Given the description of an element on the screen output the (x, y) to click on. 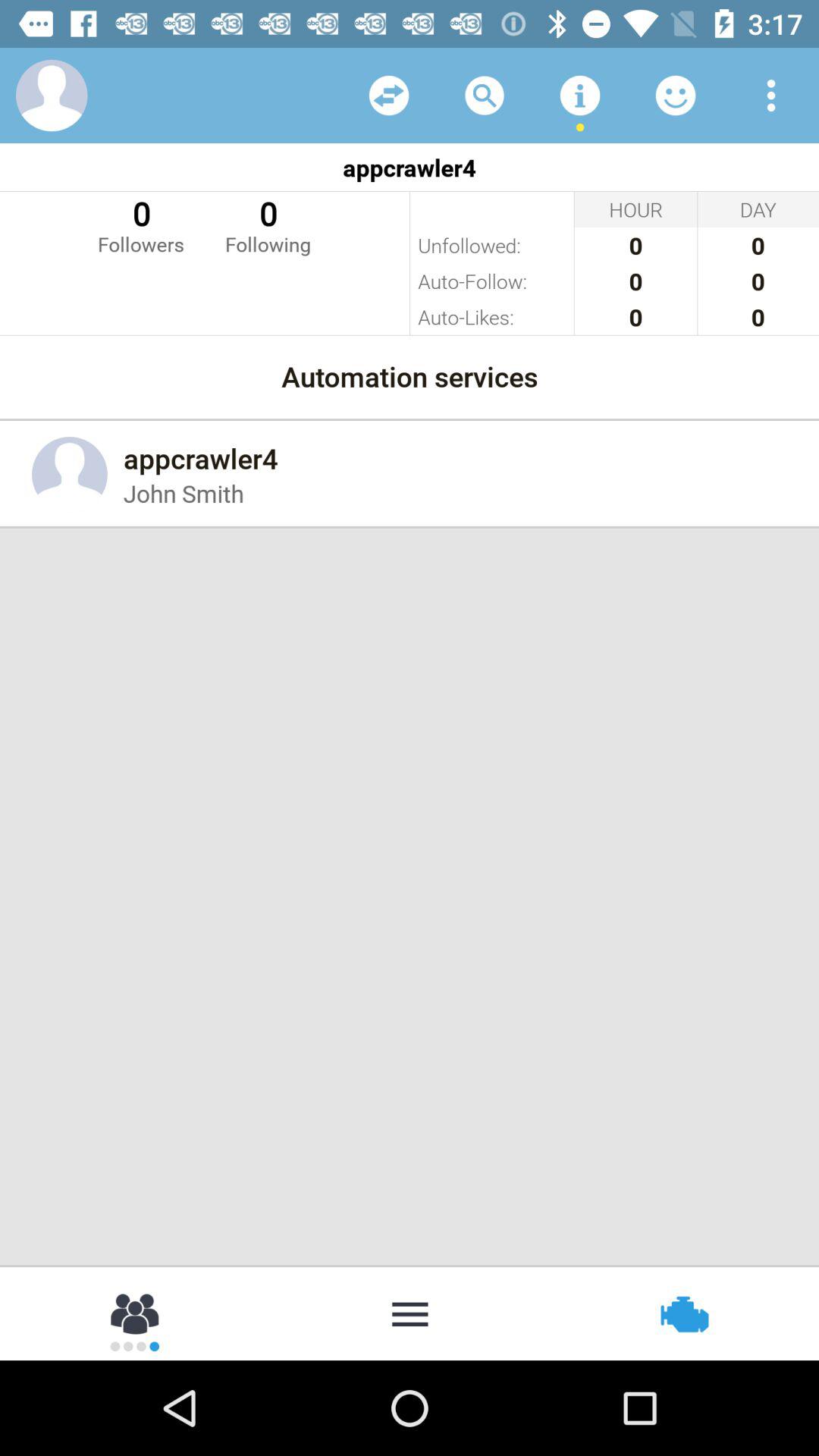
go to profile (51, 95)
